Given the description of an element on the screen output the (x, y) to click on. 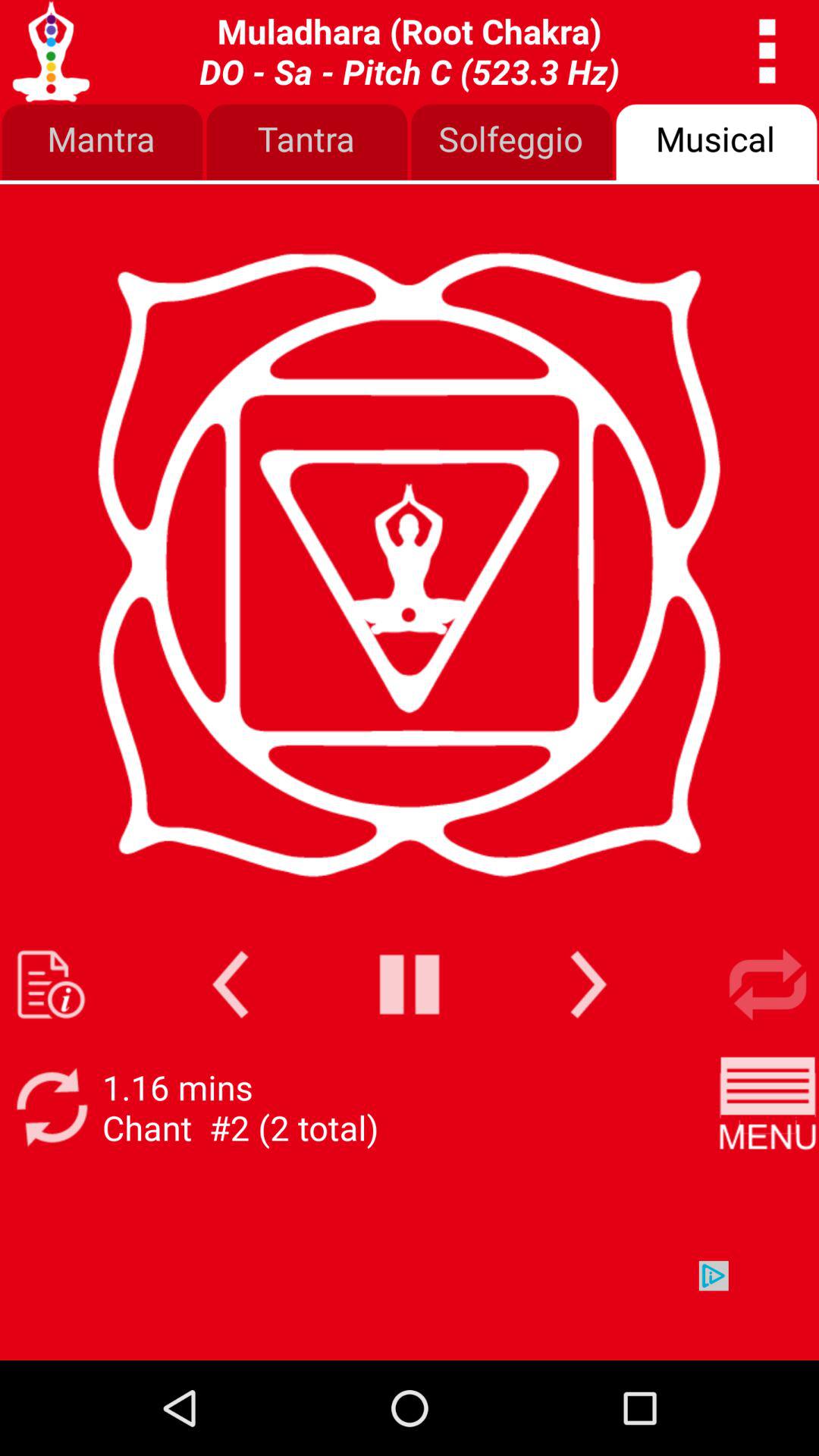
launch solfeggio item (511, 143)
